Given the description of an element on the screen output the (x, y) to click on. 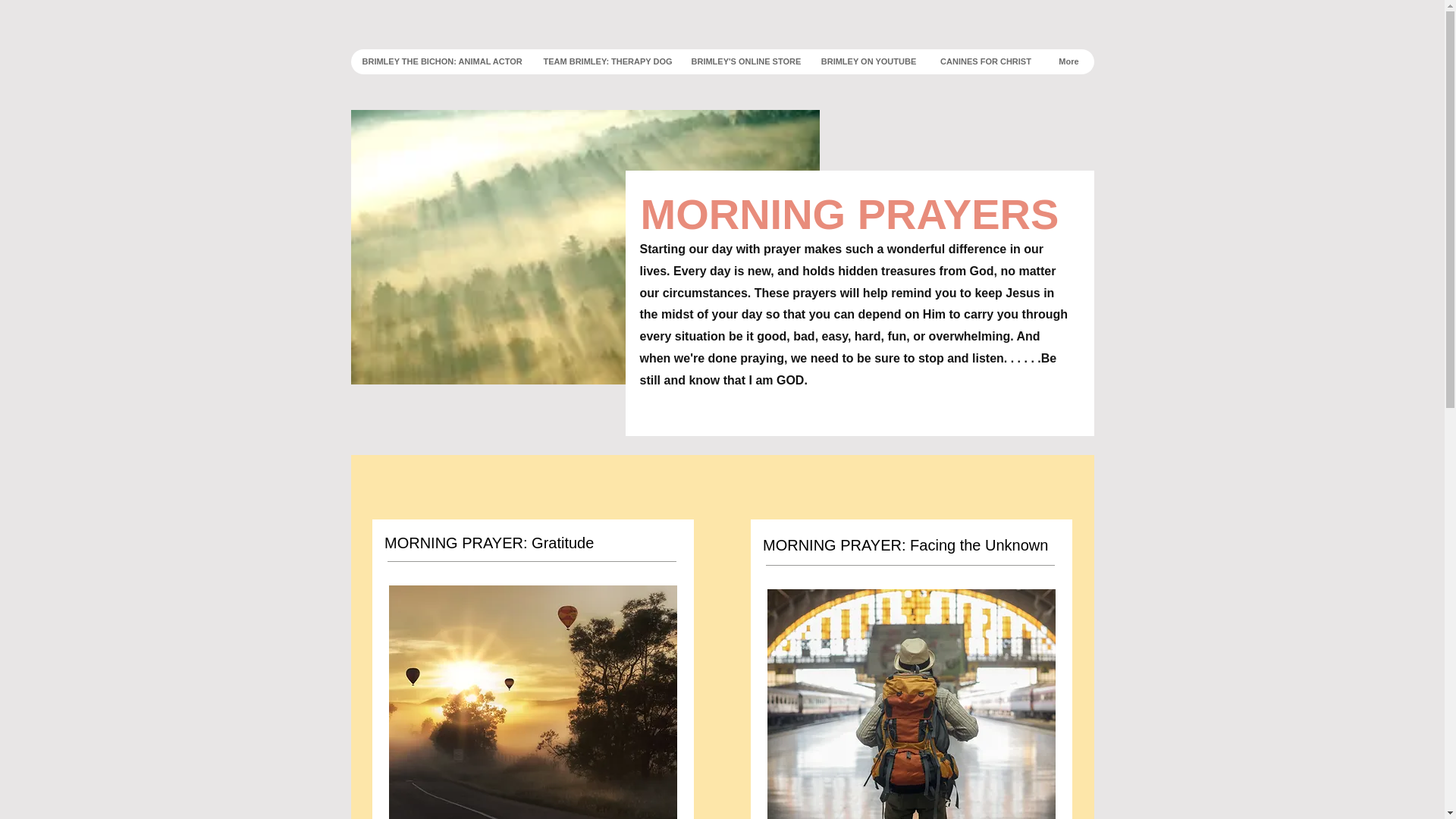
BRIMLEY ON YOUTUBE (867, 61)
BRIMLEY THE BICHON: ANIMAL ACTOR (440, 61)
BRIMLEY'S ONLINE STORE (744, 61)
TEAM BRIMLEY: THERAPY DOG (604, 61)
